Given the description of an element on the screen output the (x, y) to click on. 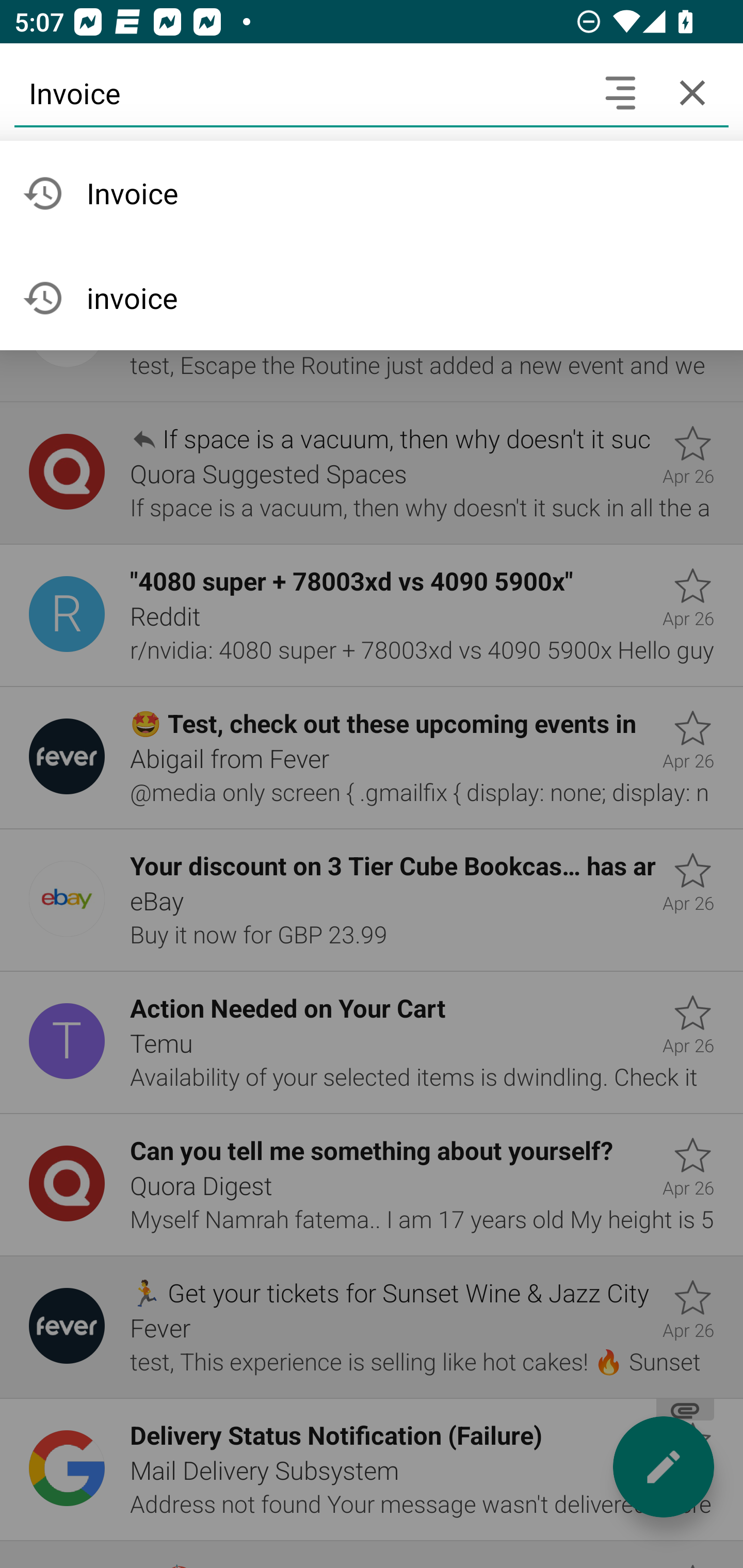
Invoice (298, 92)
Search headers and text (619, 92)
Cancel (692, 92)
